Given the description of an element on the screen output the (x, y) to click on. 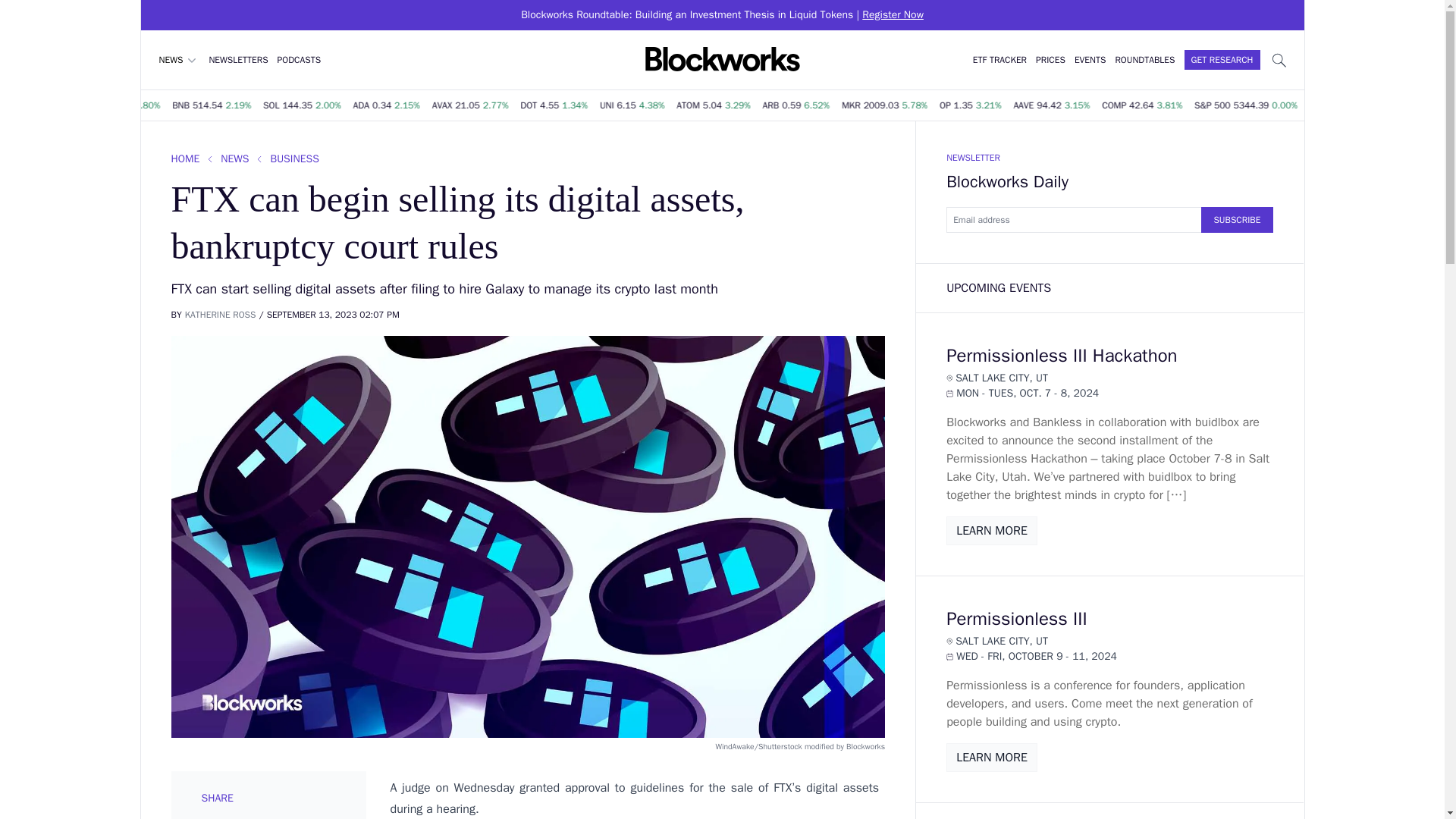
PODCASTS (299, 60)
EVENTS (1089, 60)
Register Now (892, 14)
GET RESEARCH (1222, 59)
NEWS (179, 59)
ETF TRACKER (999, 60)
NEWSLETTERS (237, 60)
ROUNDTABLES (1144, 60)
PRICES (1050, 60)
